Given the description of an element on the screen output the (x, y) to click on. 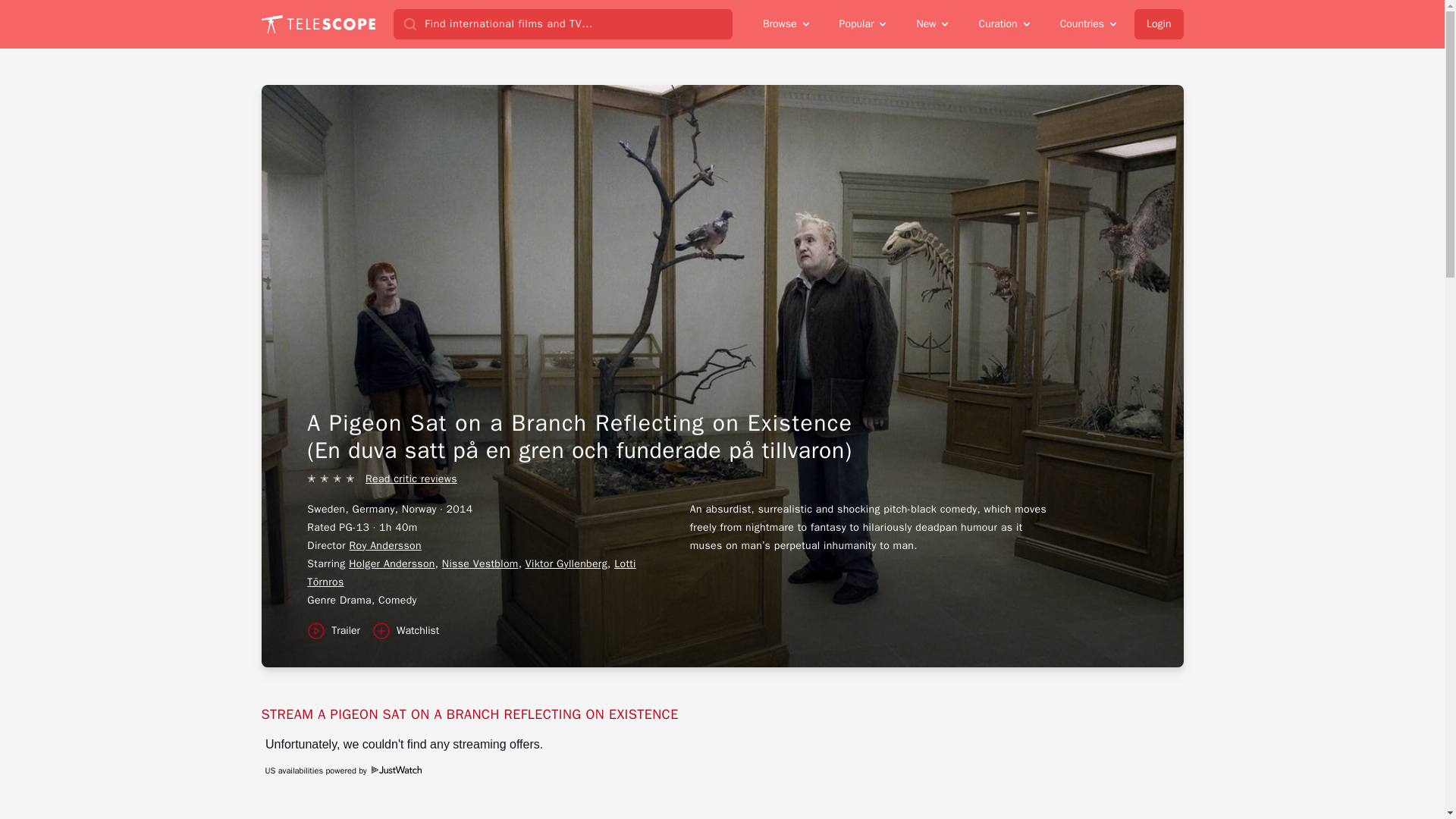
New (933, 24)
Popular (864, 24)
Browse (787, 24)
Curation (1004, 24)
Countries (1089, 24)
